Given the description of an element on the screen output the (x, y) to click on. 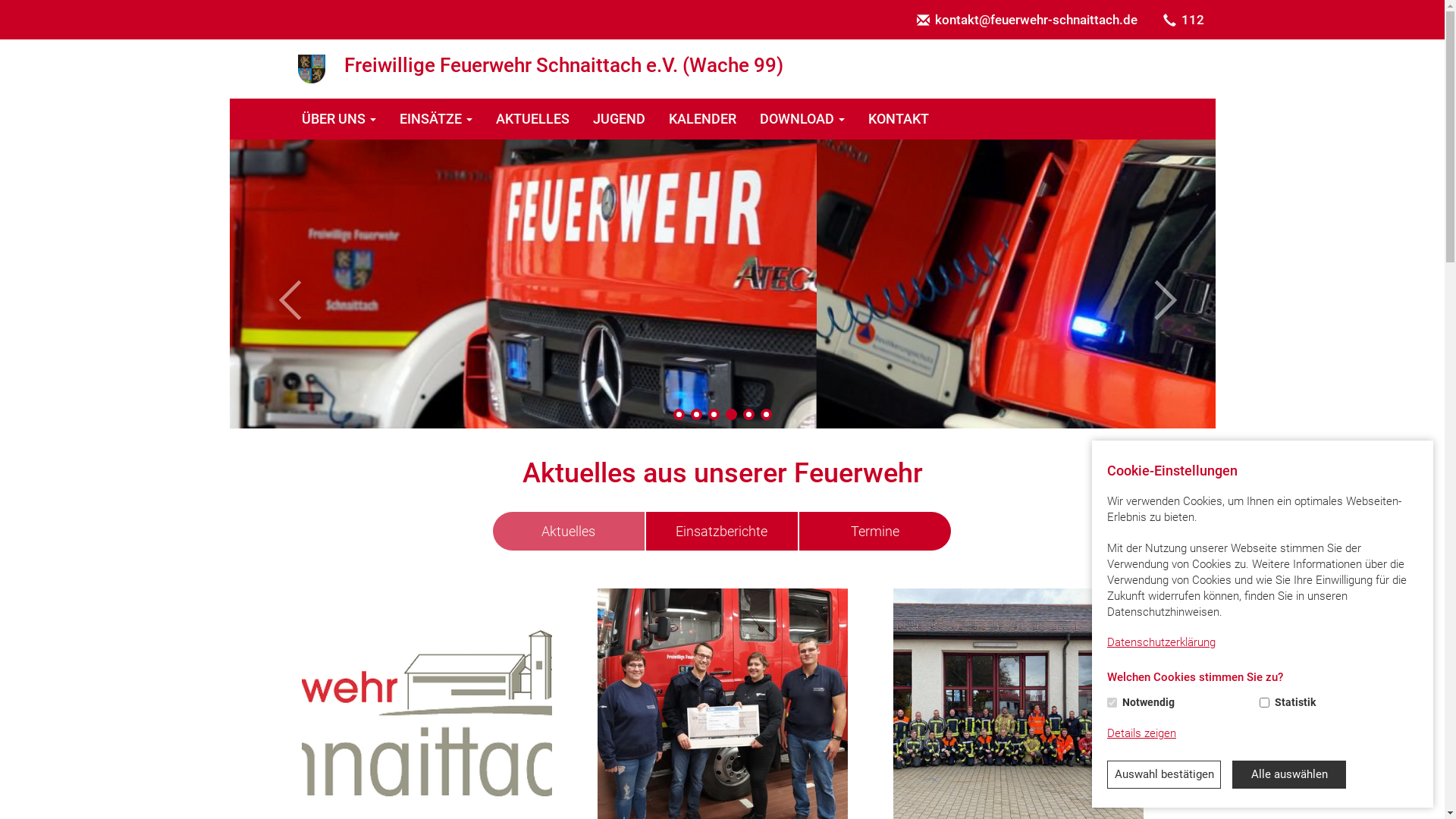
KONTAKT Element type: text (898, 118)
AKTUELLES Element type: text (531, 118)
Freiwillige Feuerwehr Schnaittach e.V.       (Wache 99) Element type: hover (311, 68)
kontakt@feuerwehr-schnaittach.de Element type: text (1026, 19)
Aktuelles Element type: text (568, 531)
JUGEND Element type: text (618, 118)
Einsatzberichte Element type: text (721, 531)
112 Element type: text (1182, 19)
DOWNLOAD Element type: text (801, 118)
Details zeigen Element type: text (1141, 733)
Freiwillige Feuerwehr Schnaittach e.V. (Wache 99) Element type: text (721, 68)
KALENDER Element type: text (701, 118)
Termine Element type: text (874, 531)
